Given the description of an element on the screen output the (x, y) to click on. 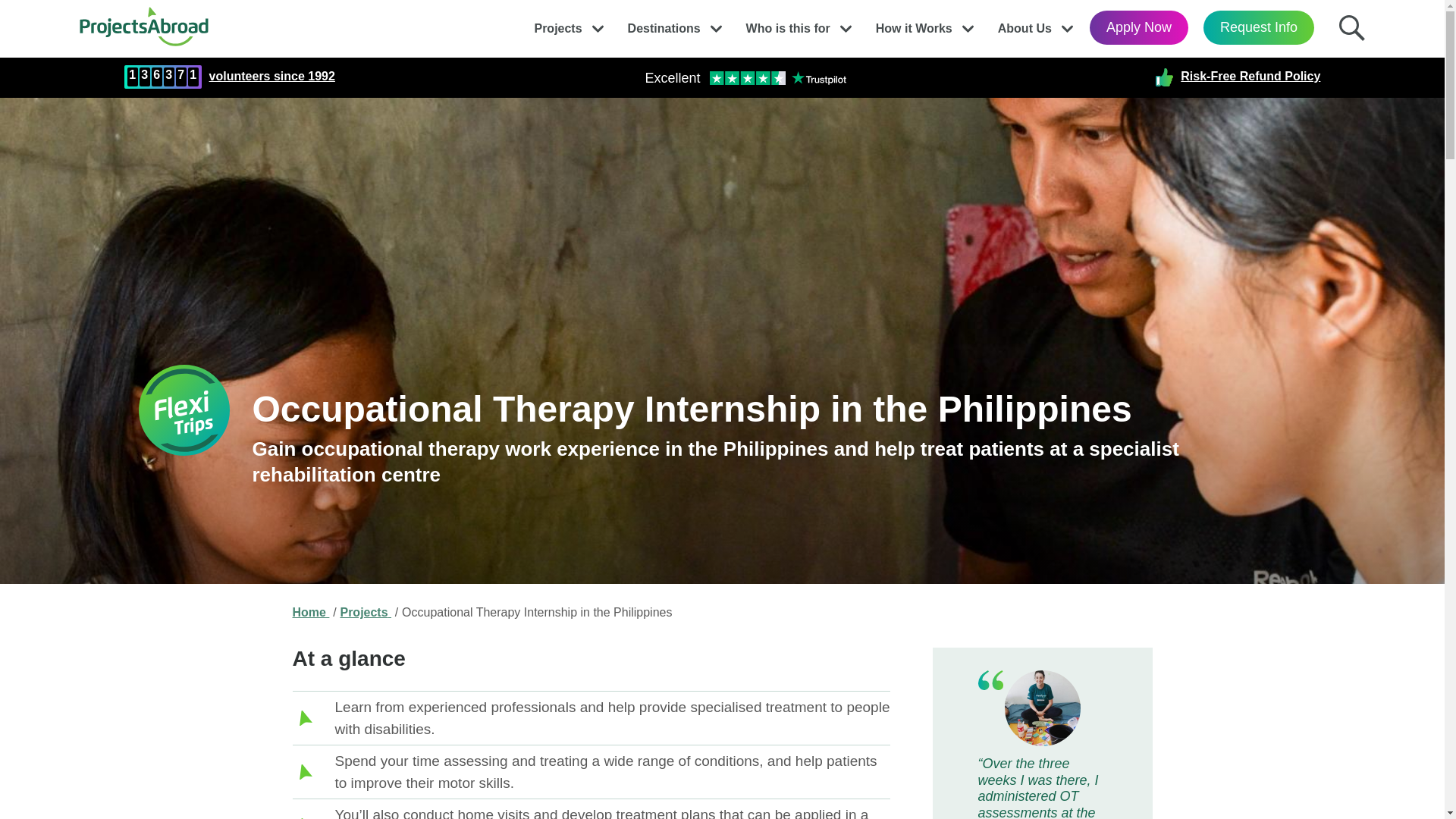
Customer reviews powered by Trustpilot (745, 77)
Projects (557, 24)
